Given the description of an element on the screen output the (x, y) to click on. 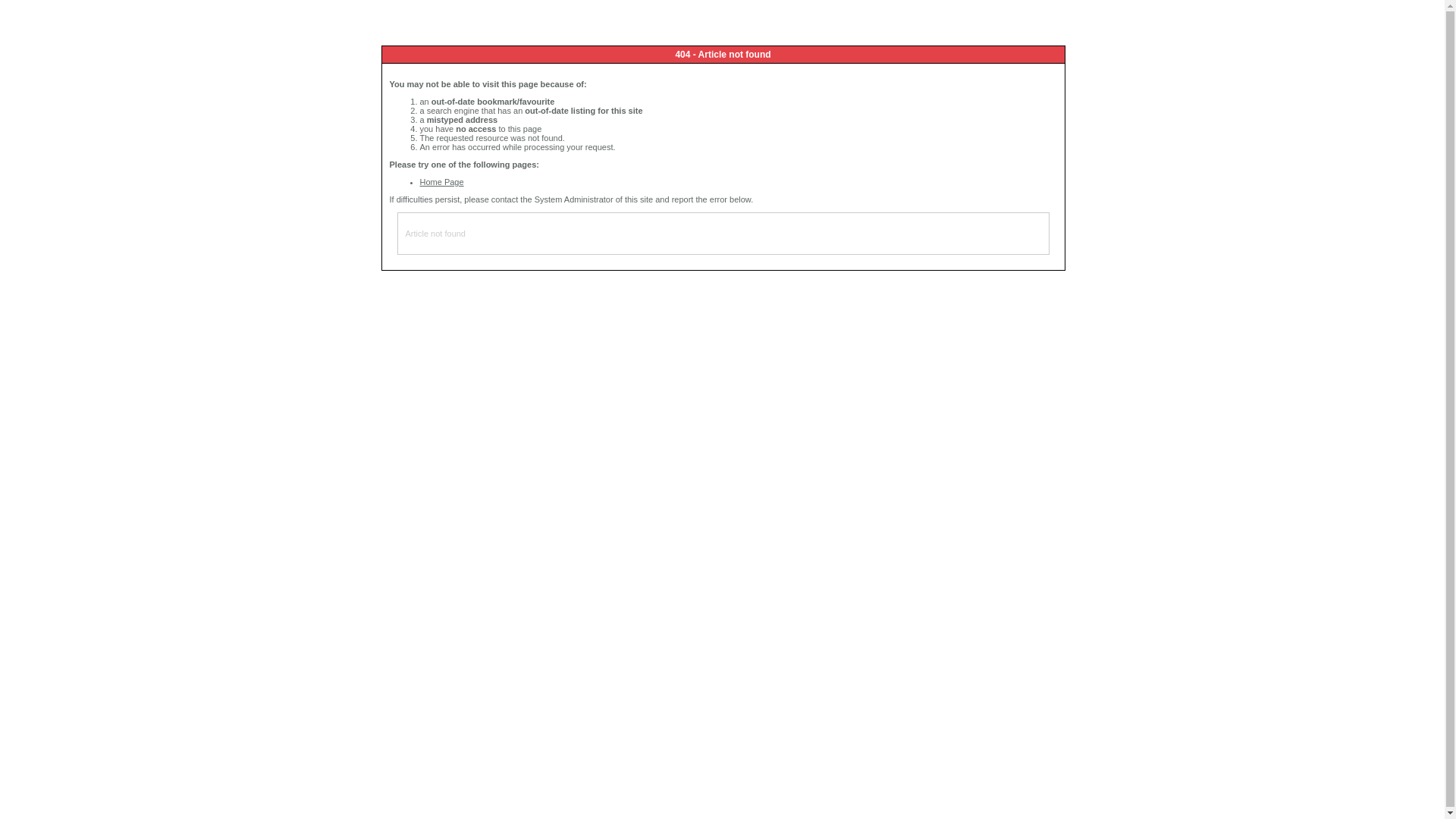
Home Page Element type: text (442, 181)
